Given the description of an element on the screen output the (x, y) to click on. 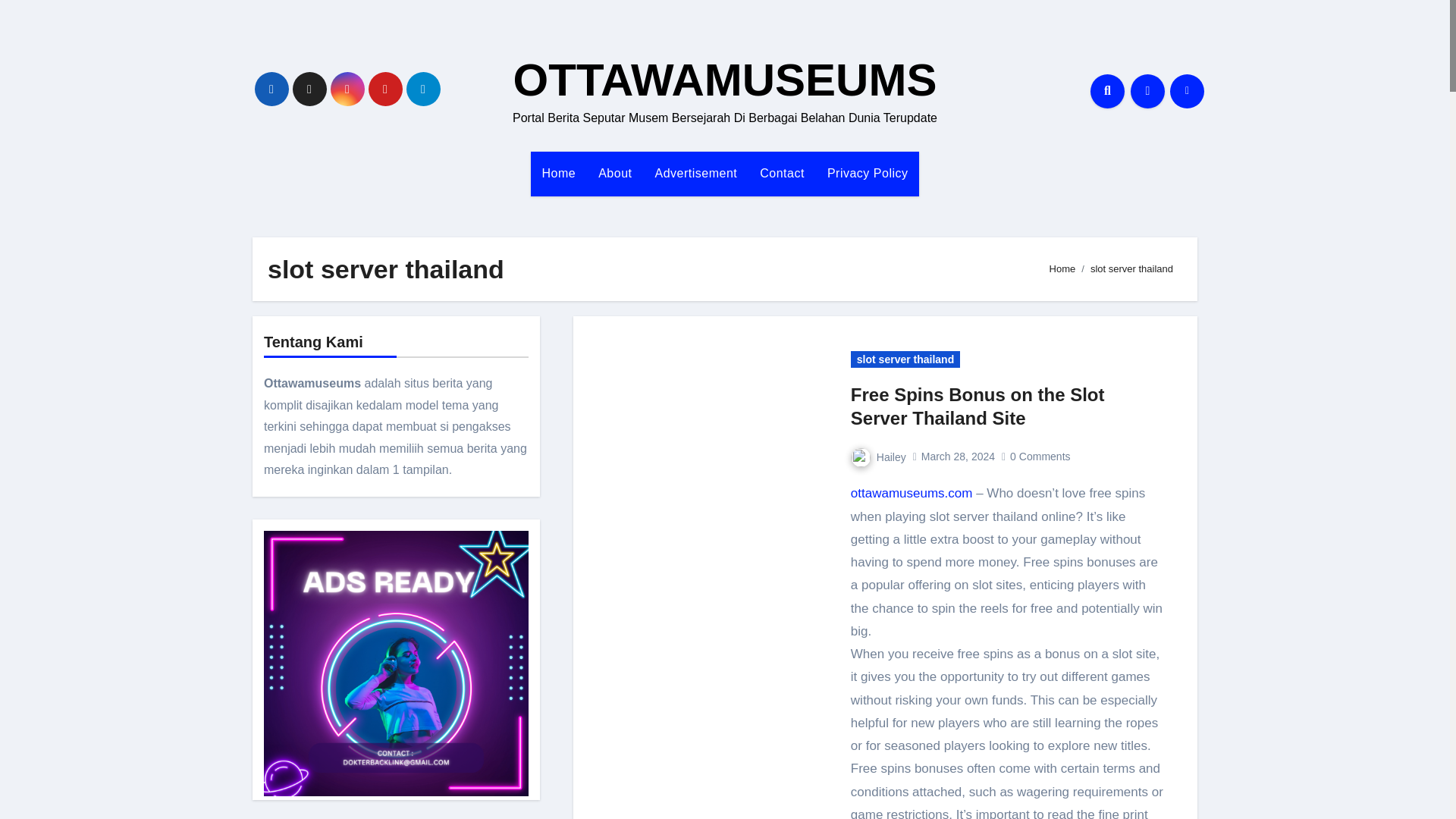
Advertisement (695, 173)
Home (559, 173)
About (614, 173)
OTTAWAMUSEUMS (725, 79)
Contact (781, 173)
Privacy Policy (867, 173)
Home (1062, 268)
Home (559, 173)
